Given the description of an element on the screen output the (x, y) to click on. 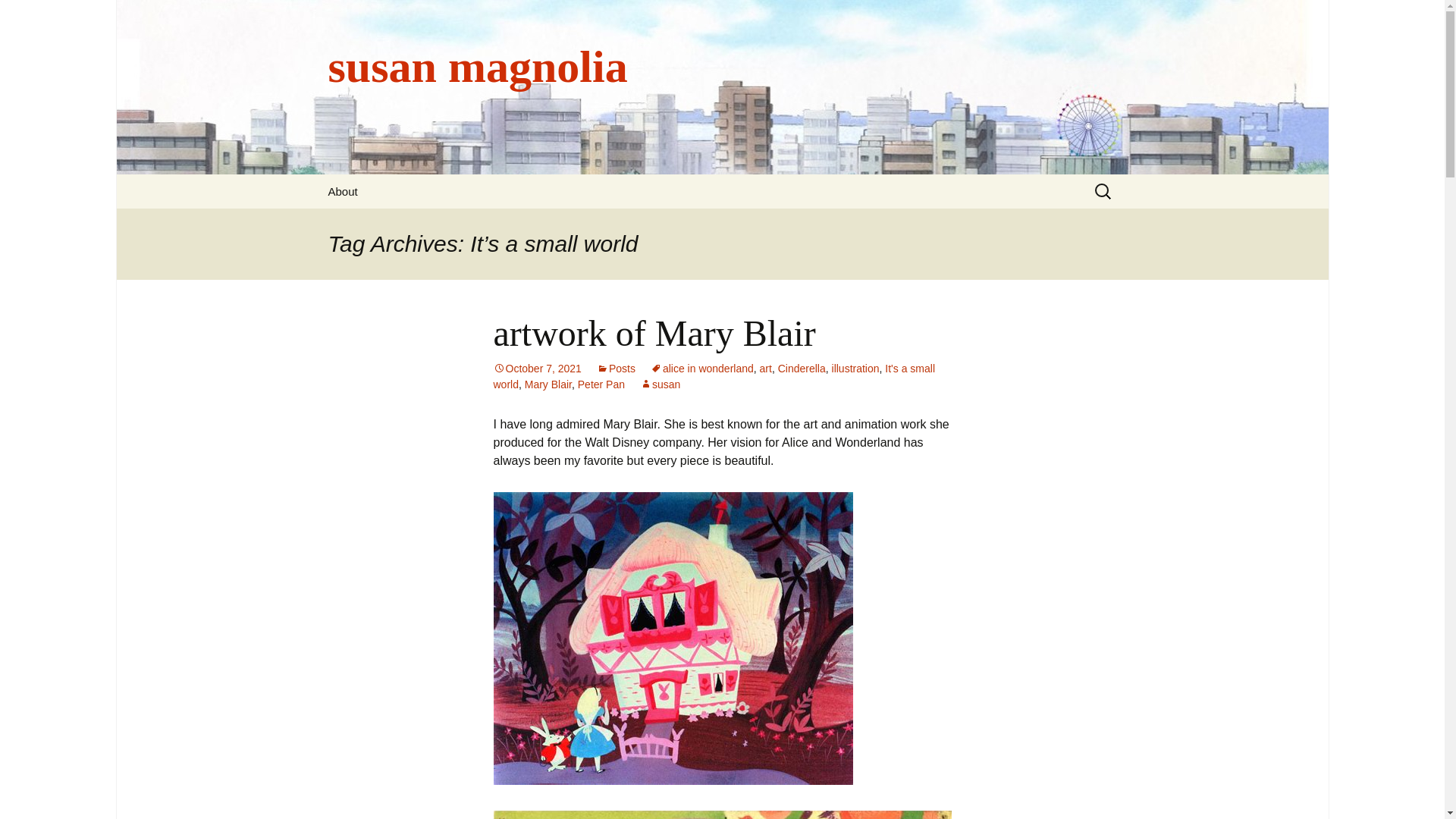
artwork of Mary Blair (654, 332)
Permalink to artwork of Mary Blair (536, 368)
It's a small world (713, 376)
art (765, 368)
About (342, 191)
Posts (615, 368)
October 7, 2021 (536, 368)
Cinderella (801, 368)
illustration (855, 368)
